Given the description of an element on the screen output the (x, y) to click on. 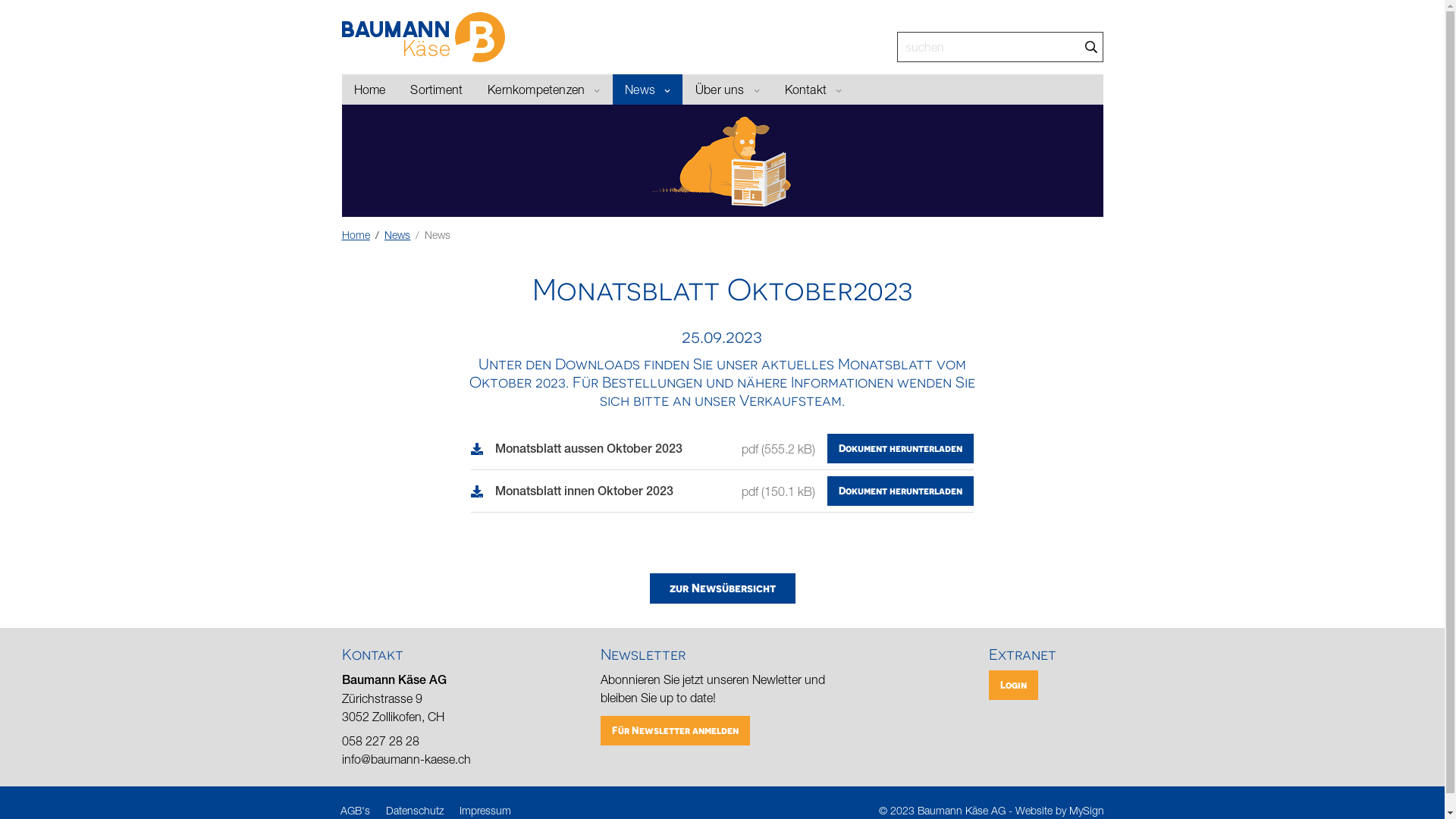
info@baumann-kaese.ch Element type: text (405, 758)
Kernkompetenzen Element type: text (543, 89)
AGB's Element type: text (355, 809)
Login Element type: text (1013, 684)
Datenschutz Element type: text (414, 809)
Website by MySign Element type: text (1059, 809)
Sortiment Element type: text (436, 89)
News Element type: text (647, 89)
Kontakt Element type: text (812, 89)
Home Element type: text (369, 89)
Impressum Element type: text (485, 809)
News Element type: hover (721, 160)
